Given the description of an element on the screen output the (x, y) to click on. 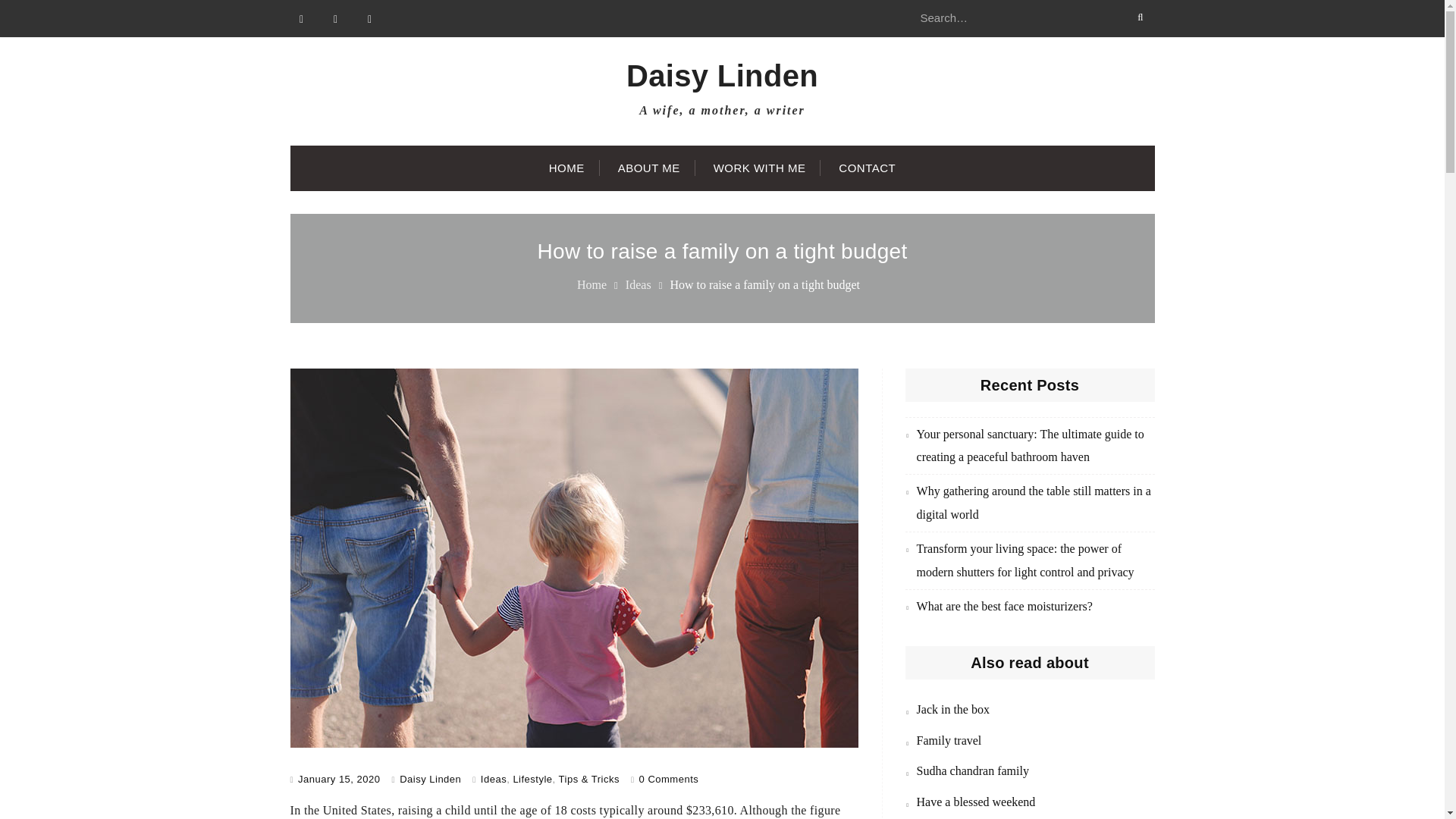
Search for: (1029, 18)
CONTACT (867, 168)
ABOUT ME (648, 168)
Twitter (335, 18)
0 Comments (668, 778)
January 15, 2020 (339, 778)
Home (591, 284)
Lifestyle (531, 778)
Ideas (638, 284)
Daisy Linden (429, 778)
